Given the description of an element on the screen output the (x, y) to click on. 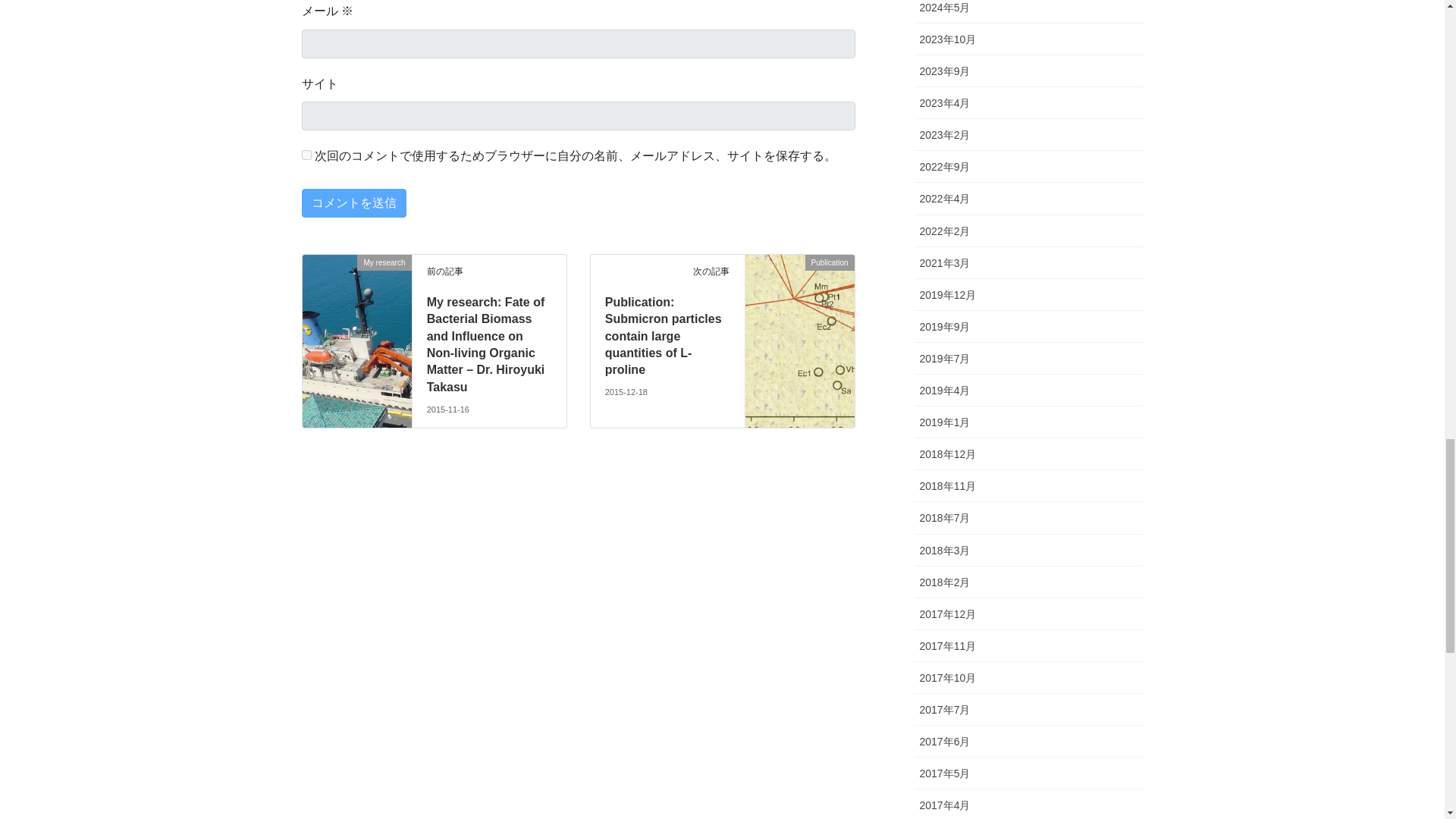
yes (306, 154)
Publication (798, 280)
My research (355, 280)
